Given the description of an element on the screen output the (x, y) to click on. 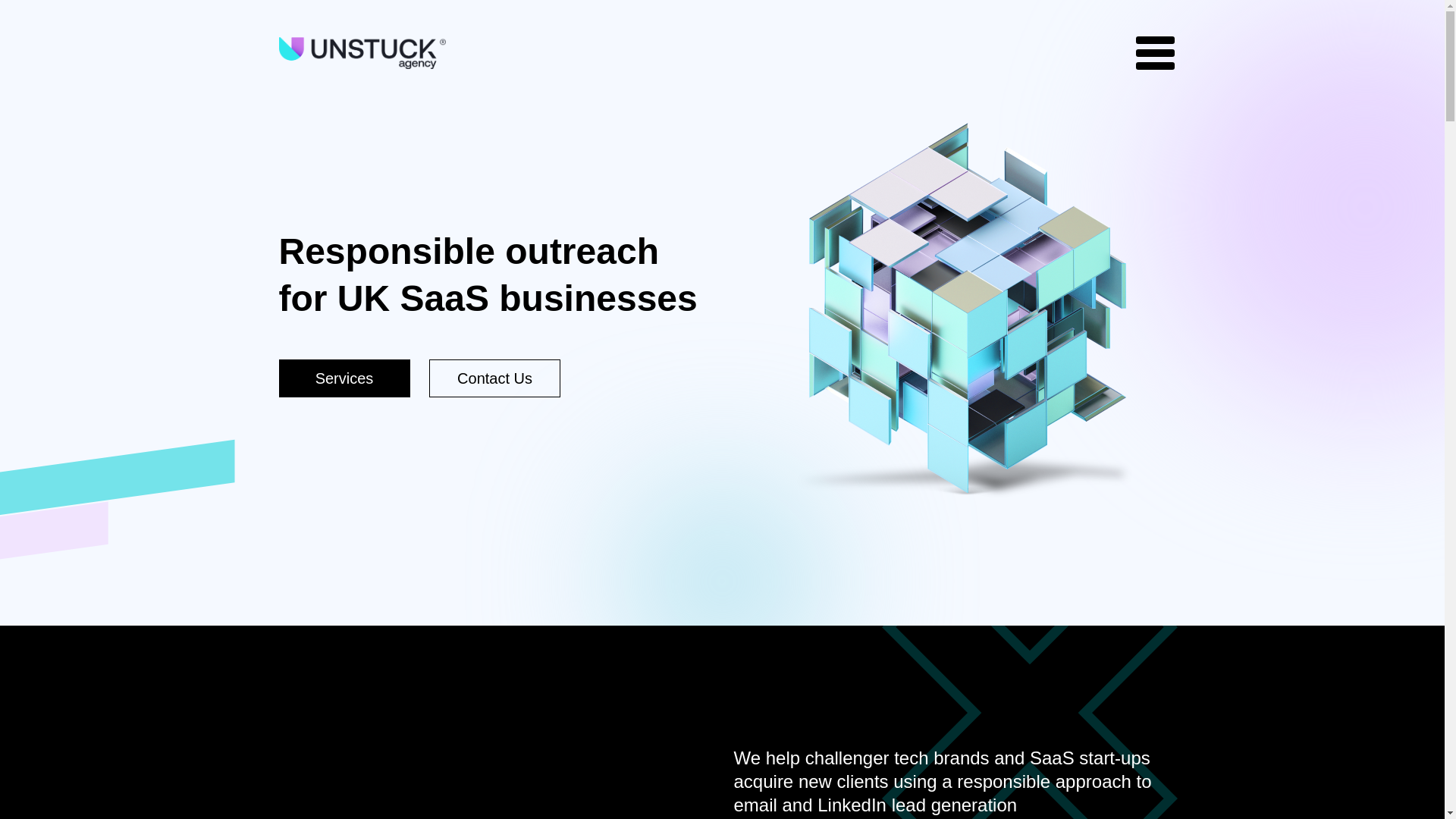
Contact Us (494, 378)
X (1395, 72)
Services (344, 378)
